Given the description of an element on the screen output the (x, y) to click on. 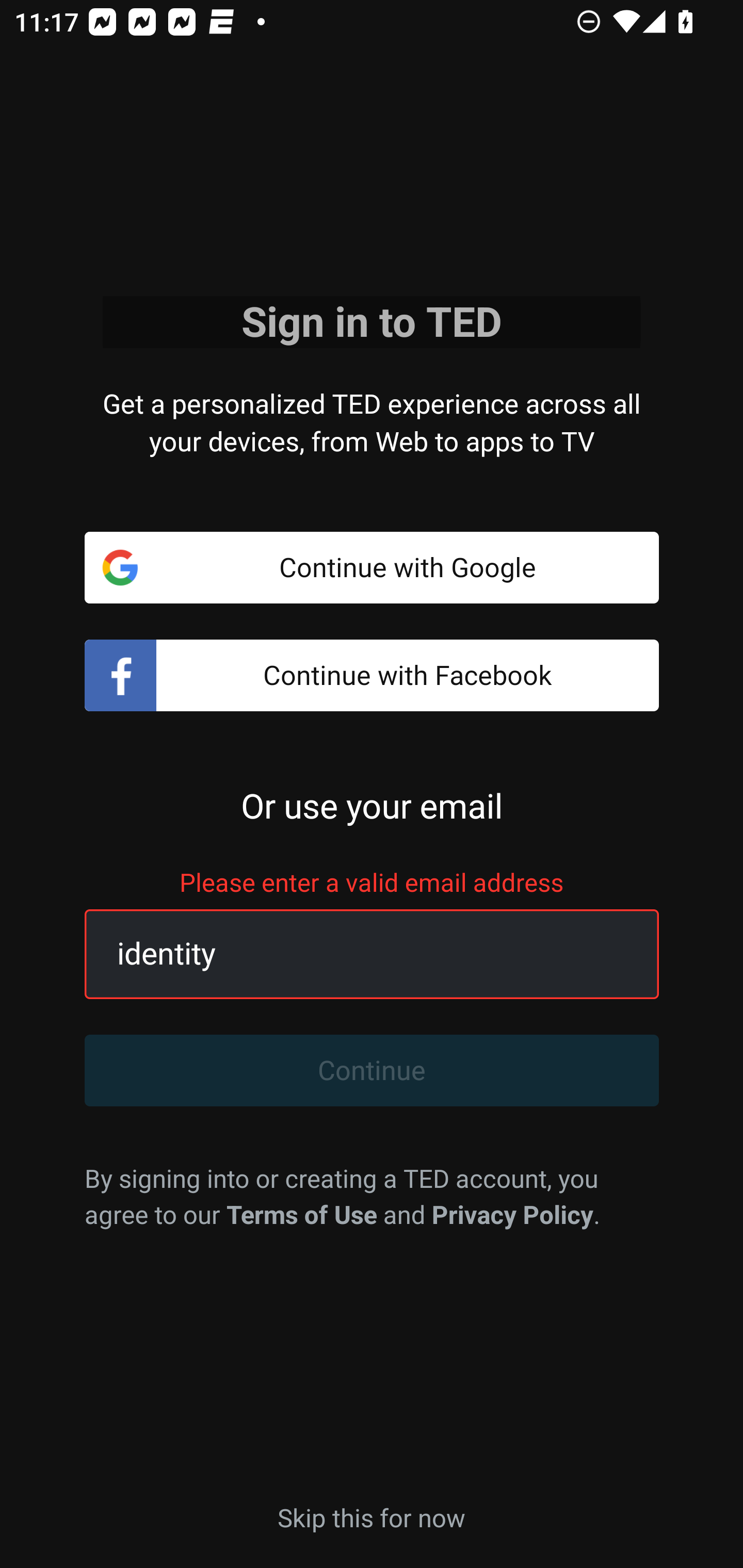
Continue with Google (371, 567)
Continue with Facebook (371, 675)
identity (349, 953)
Continue (371, 1070)
Skip this for now (371, 1516)
